Given the description of an element on the screen output the (x, y) to click on. 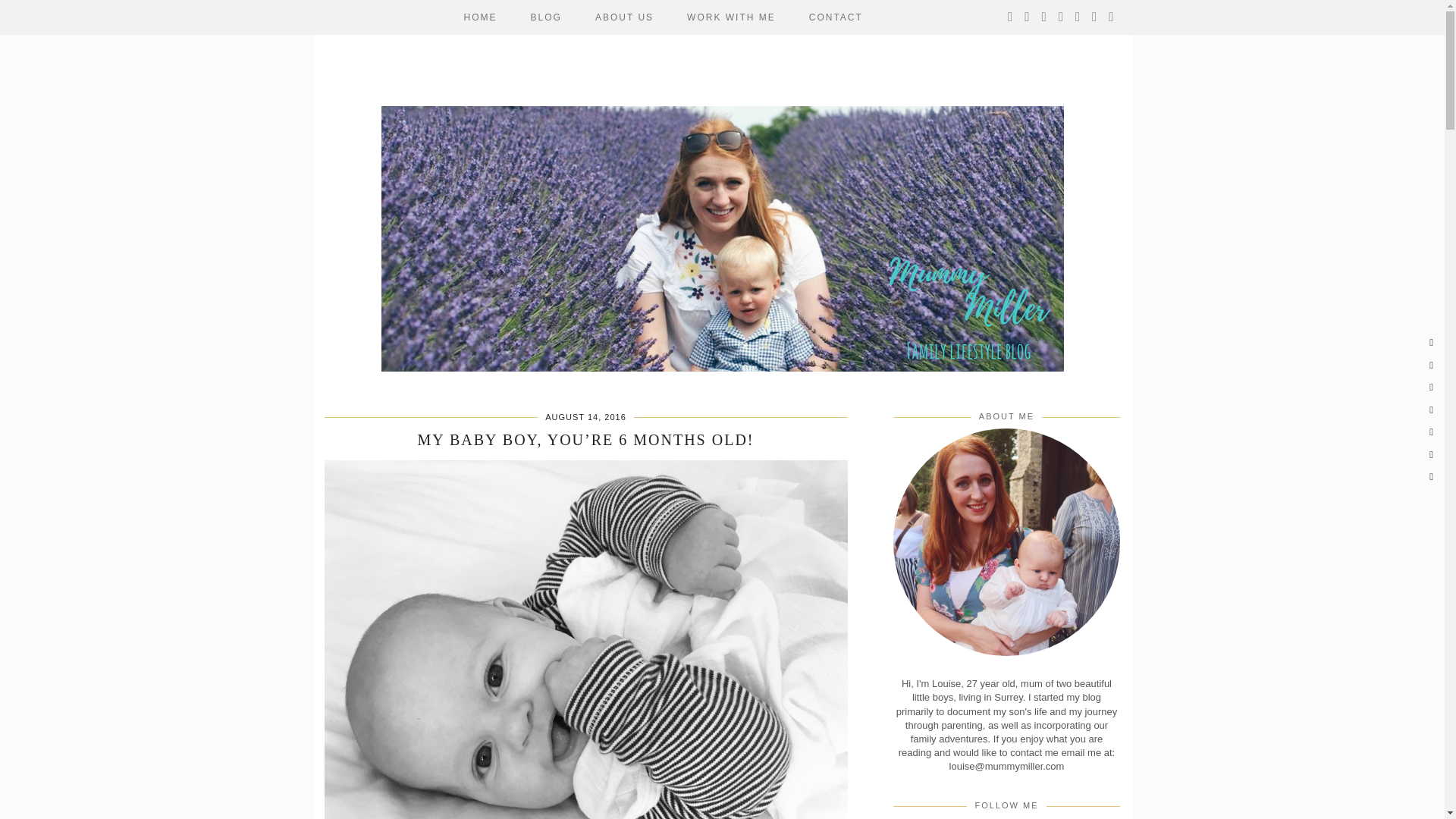
HOME (479, 17)
BLOG (545, 17)
